Given the description of an element on the screen output the (x, y) to click on. 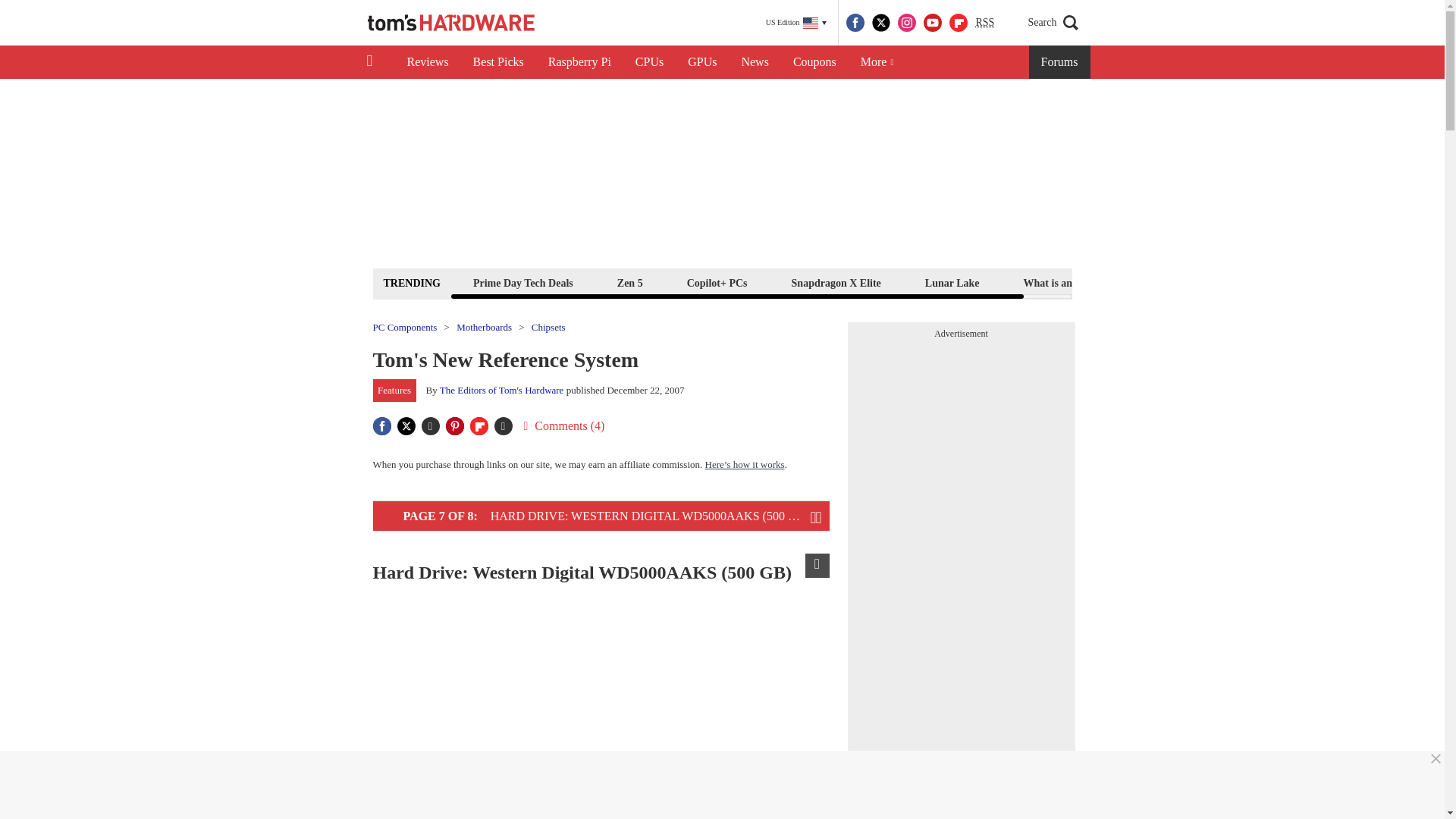
RSS (984, 22)
News (754, 61)
Raspberry Pi (579, 61)
CPUs (649, 61)
Forums (1059, 61)
US Edition (796, 22)
Really Simple Syndication (984, 21)
Reviews (427, 61)
GPUs (702, 61)
Coupons (814, 61)
Best Picks (498, 61)
